Given the description of an element on the screen output the (x, y) to click on. 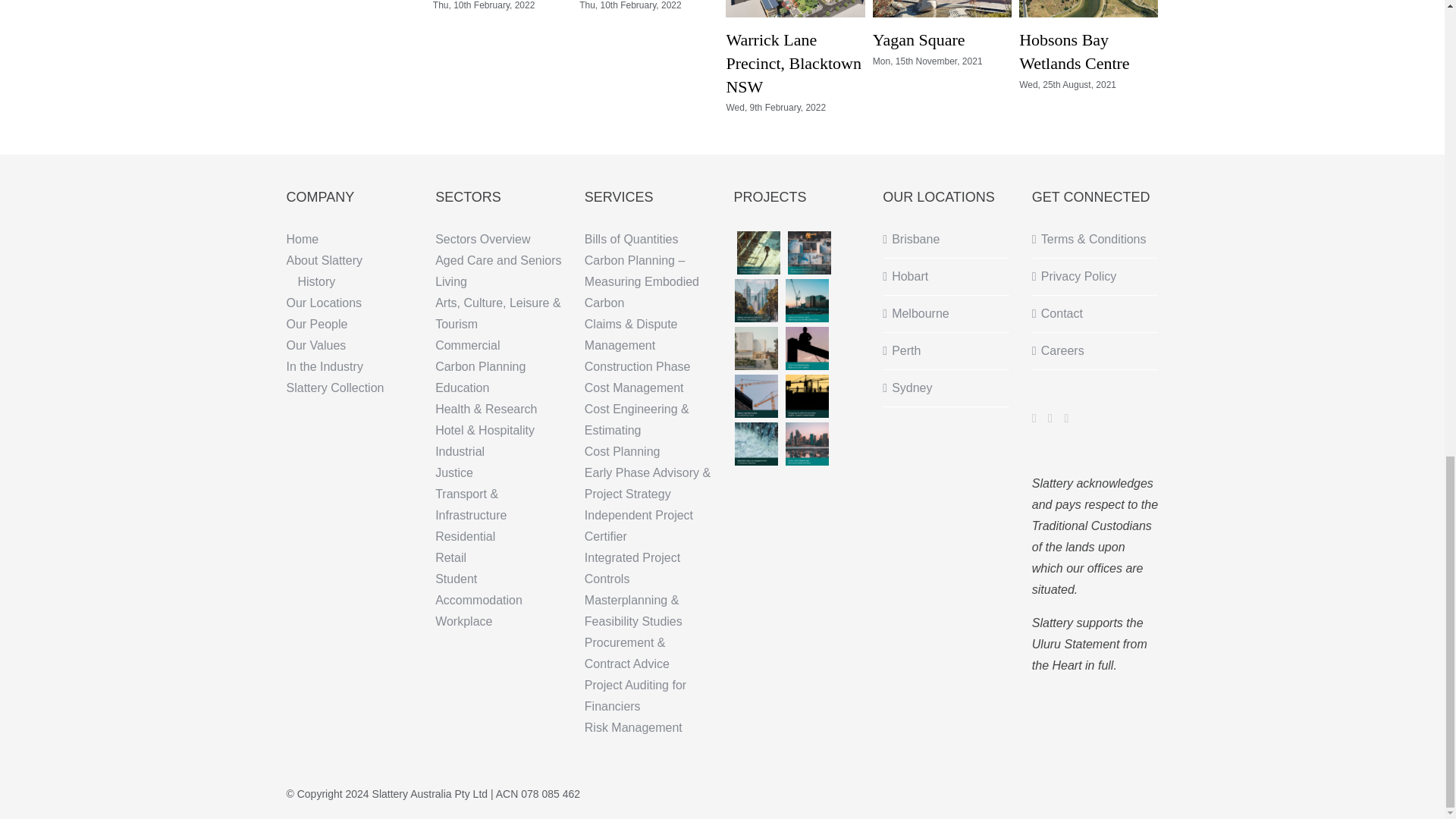
Hobsons Bay Wetlands Centre (1074, 51)
Warrick Lane Precinct, Blacktown NSW (792, 63)
Yagan Square (918, 39)
Slattery embodied carbon: Retrofitting reimagined (755, 300)
